Given the description of an element on the screen output the (x, y) to click on. 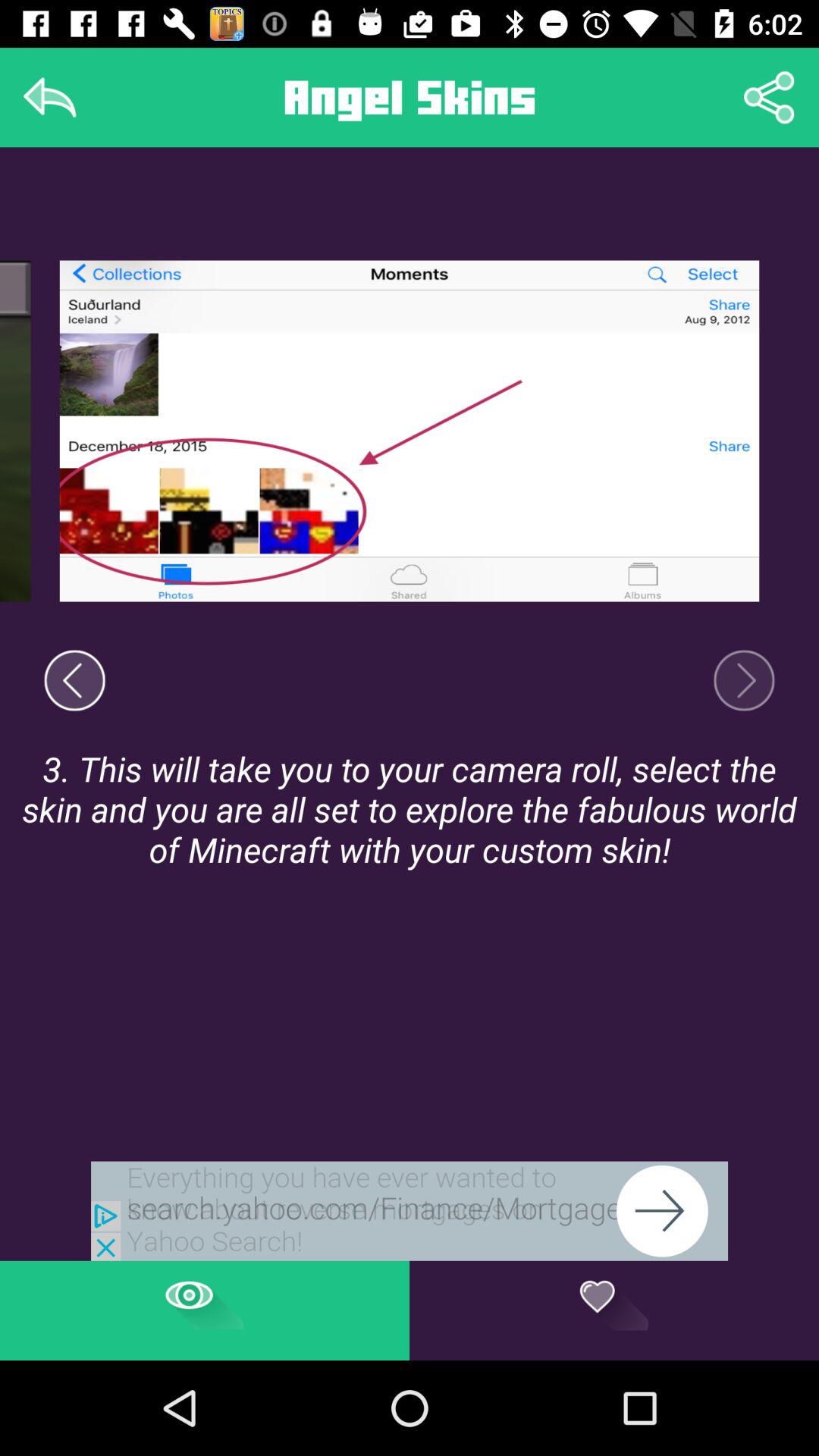
camera for photography (744, 680)
